Given the description of an element on the screen output the (x, y) to click on. 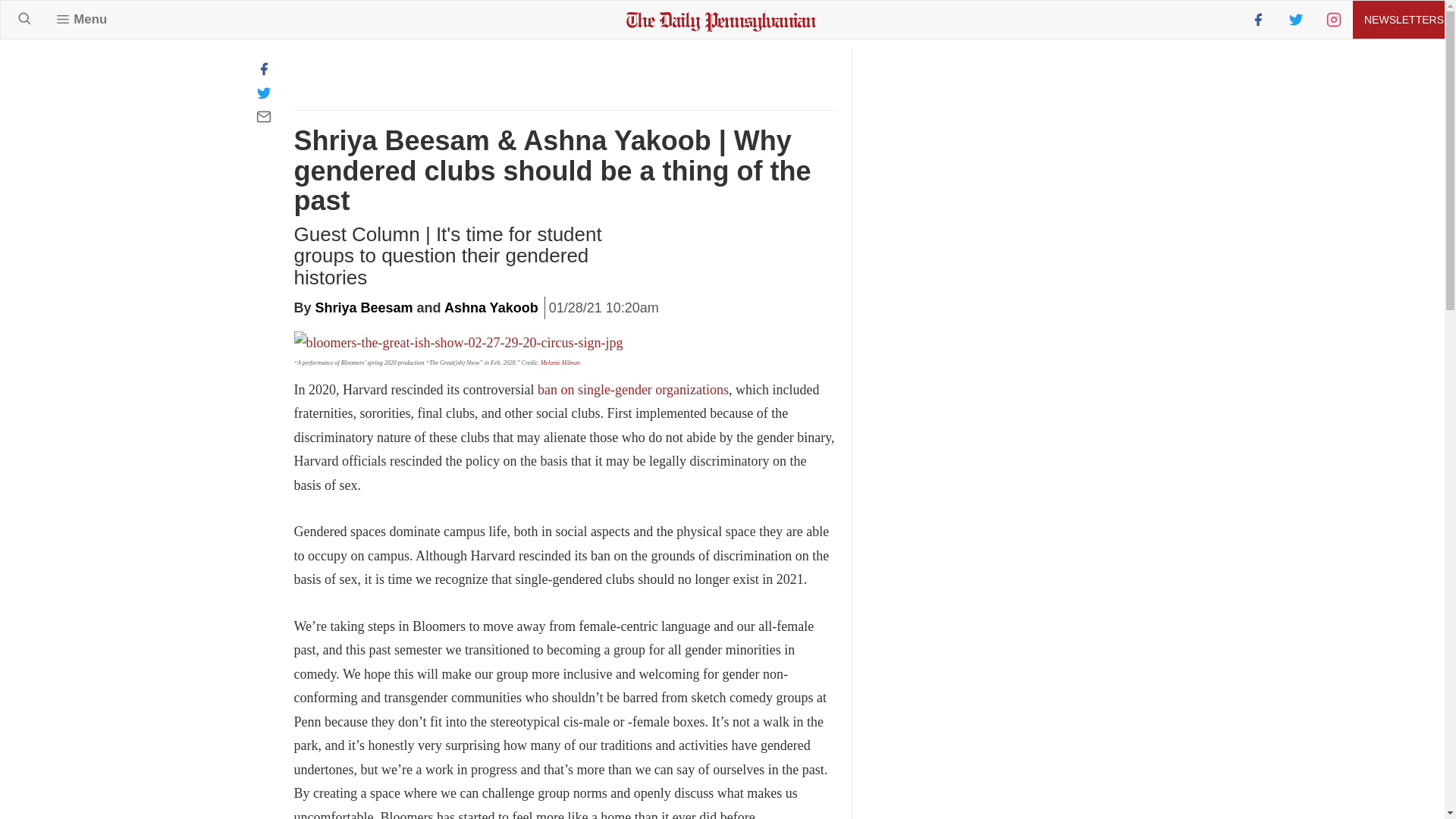
Menu (81, 18)
